Given the description of an element on the screen output the (x, y) to click on. 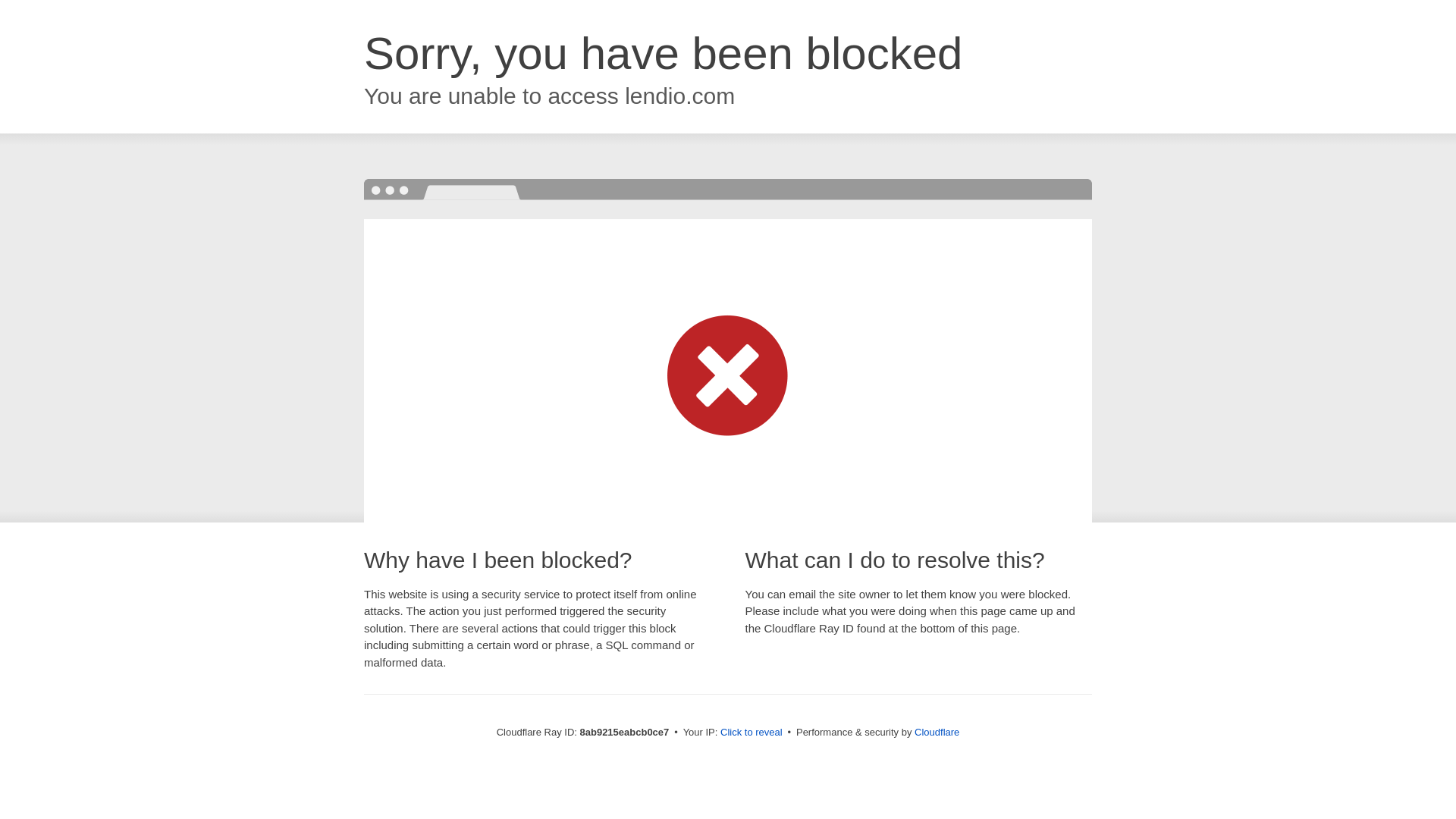
Click to reveal (751, 732)
Cloudflare (936, 731)
